Given the description of an element on the screen output the (x, y) to click on. 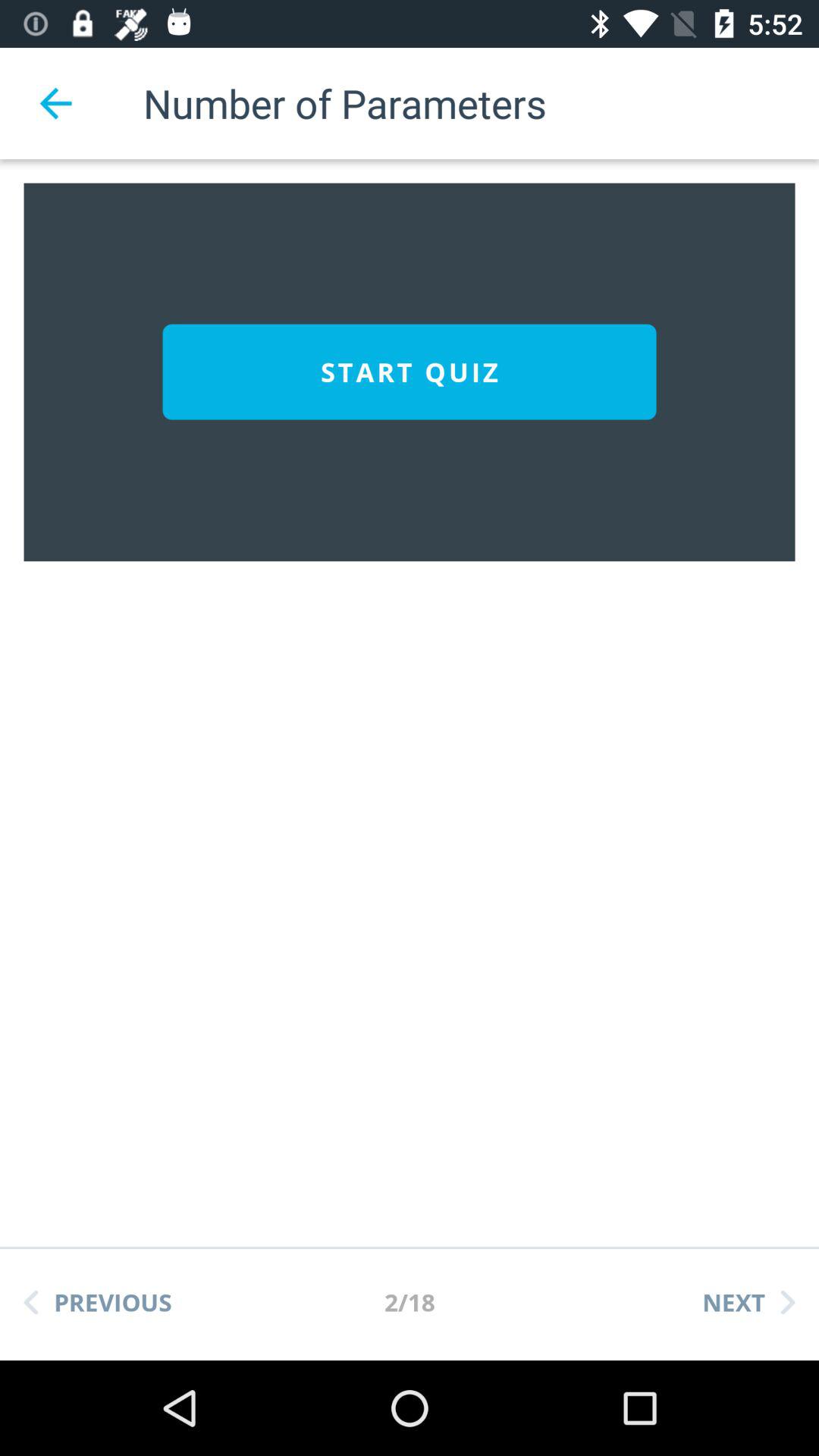
choose item to the left of number of parameters item (55, 103)
